Given the description of an element on the screen output the (x, y) to click on. 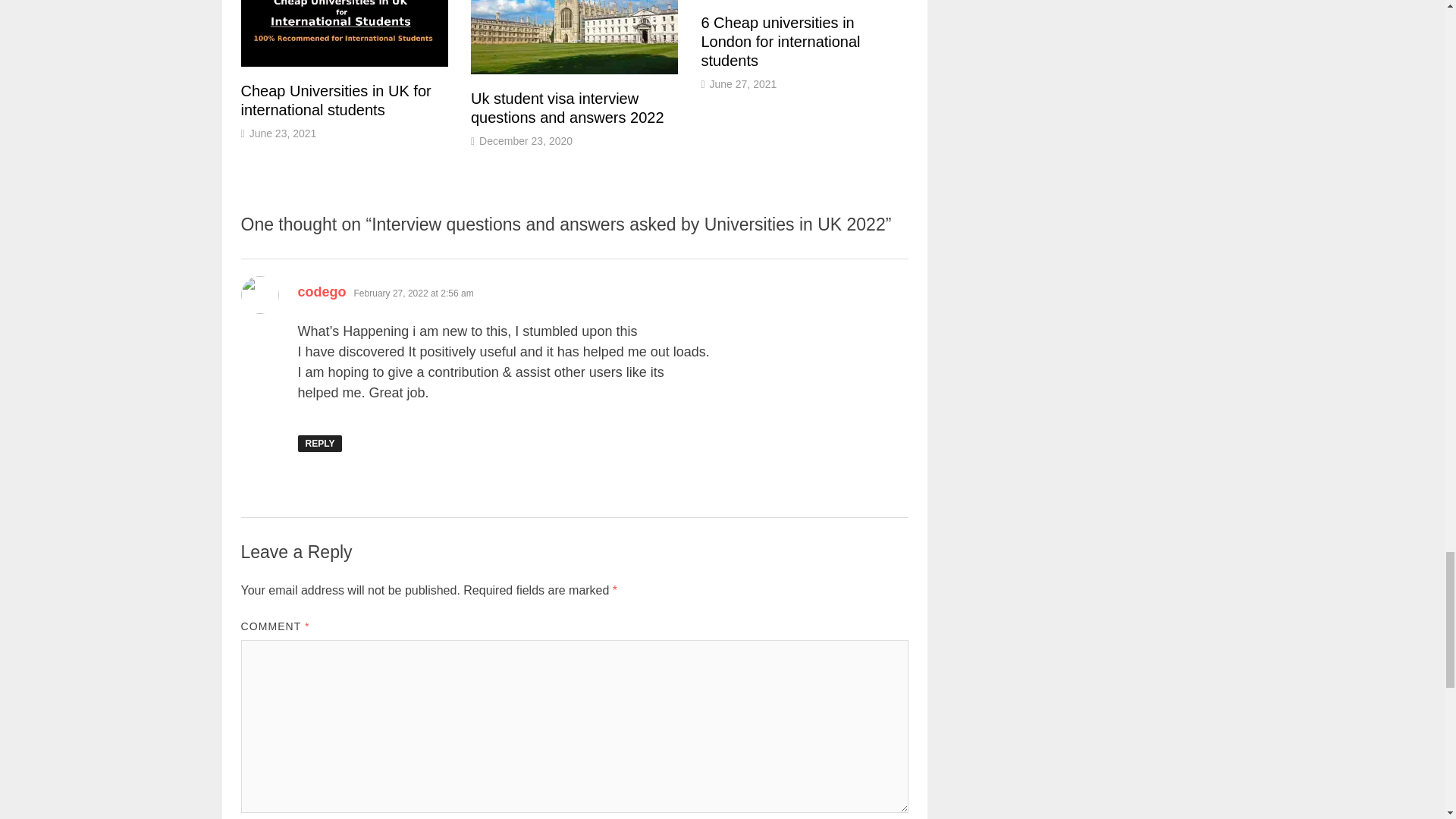
6 Cheap universities in London for international students (780, 41)
Cheap Universities in UK for international students (335, 99)
Uk student visa interview questions and answers 2022 (566, 108)
